Given the description of an element on the screen output the (x, y) to click on. 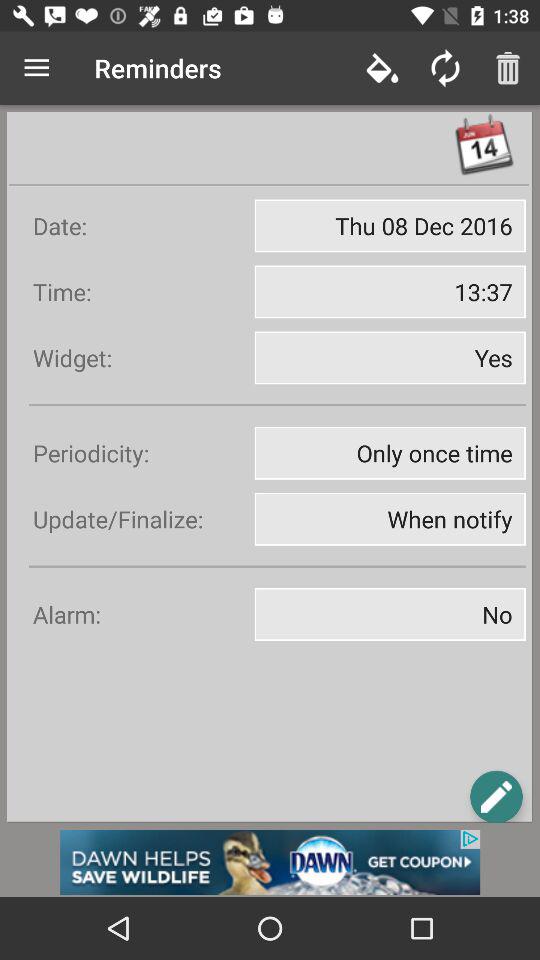
icon page (496, 796)
